Given the description of an element on the screen output the (x, y) to click on. 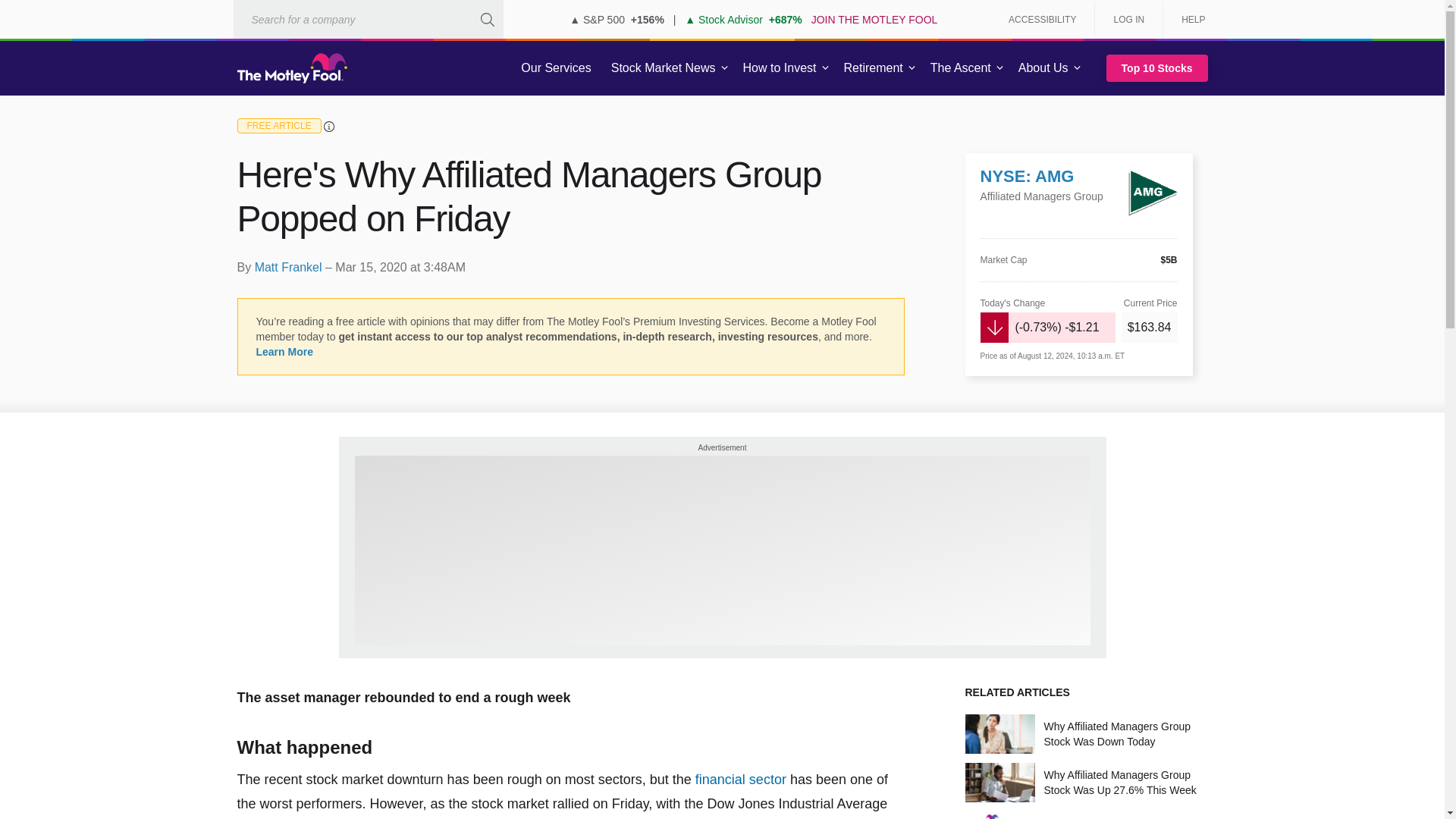
Our Services (555, 67)
HELP (1187, 19)
How to Invest (779, 67)
Stock Market News (662, 67)
LOG IN (1128, 19)
ACCESSIBILITY (1042, 19)
